Given the description of an element on the screen output the (x, y) to click on. 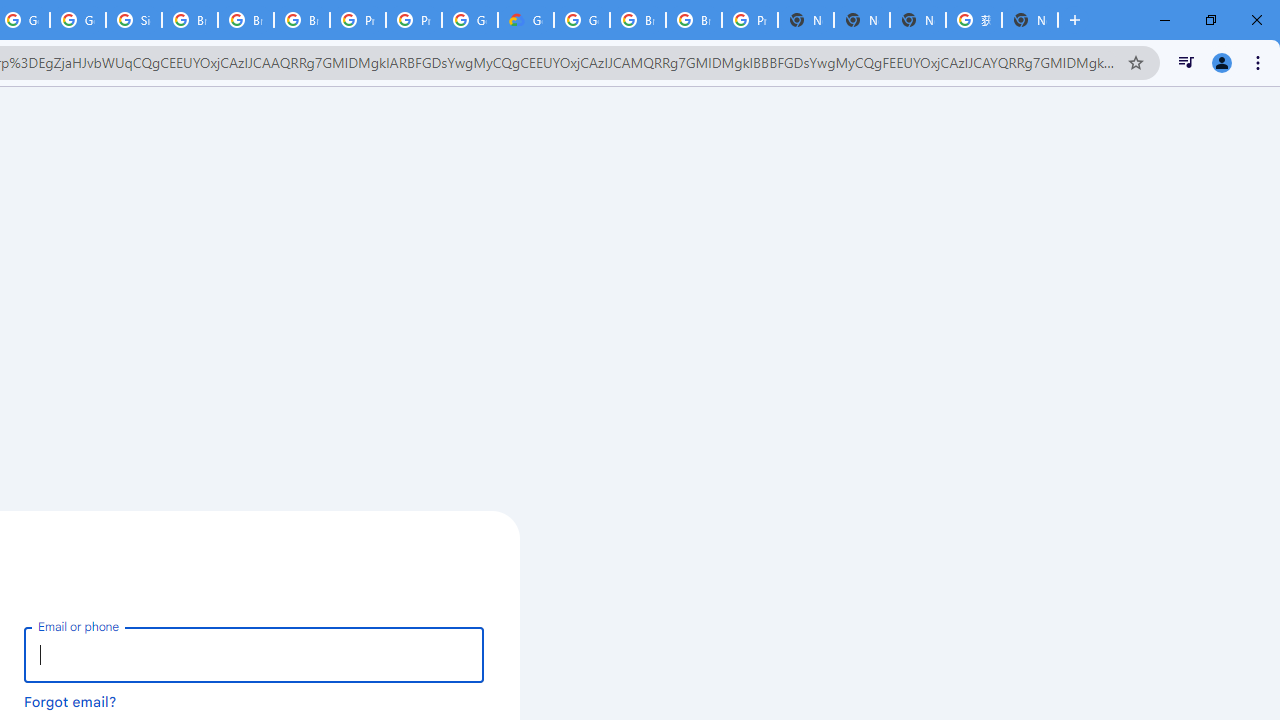
Google Cloud Platform (469, 20)
Email or phone (253, 654)
Google Cloud Estimate Summary (525, 20)
Google Cloud Platform (582, 20)
Forgot email? (70, 701)
New Tab (1030, 20)
